Given the description of an element on the screen output the (x, y) to click on. 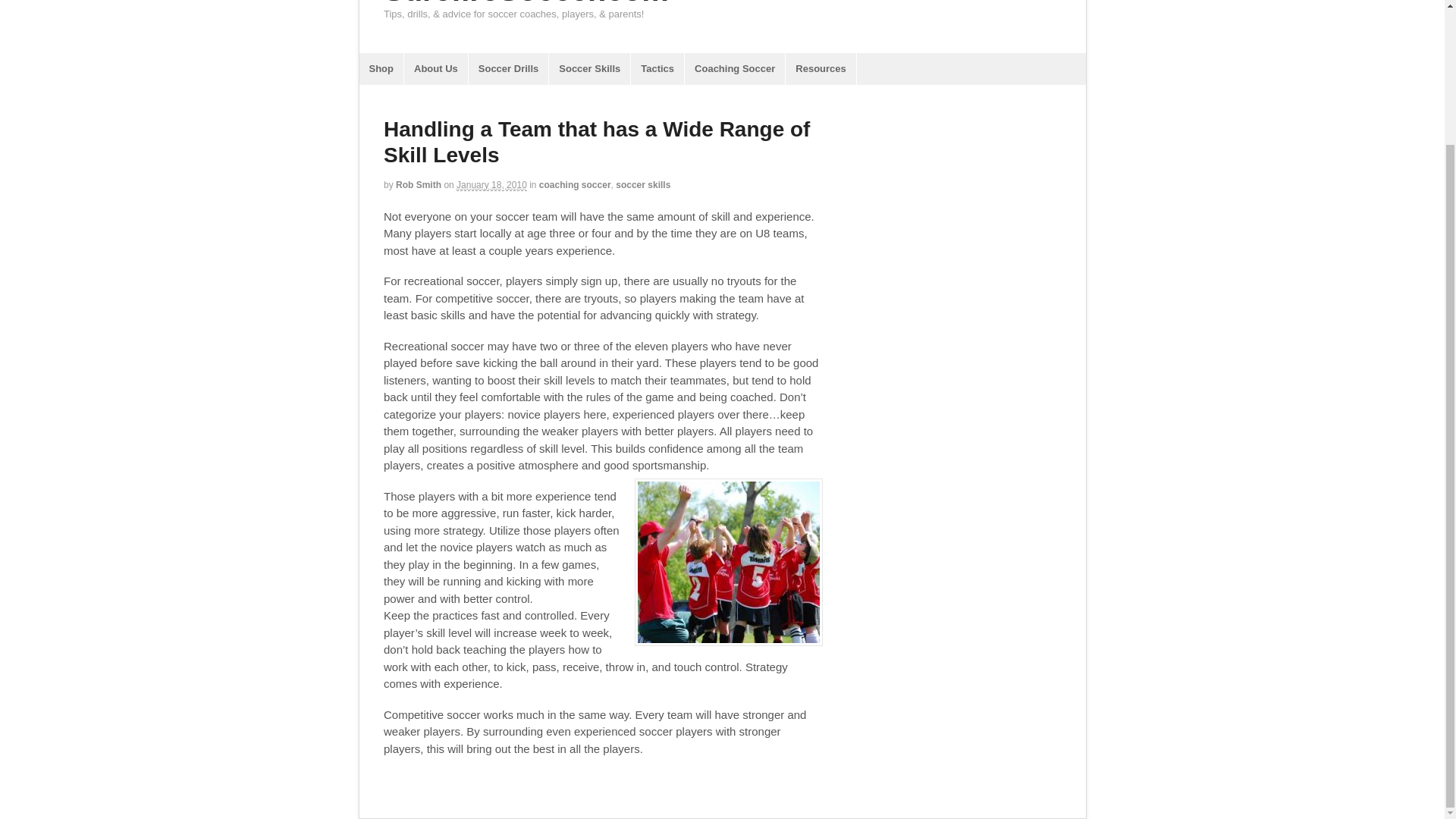
coaching soccer (574, 184)
cheer-109789-m (728, 562)
Tactics (657, 69)
soccer skills (642, 184)
Soccer Skills (589, 69)
Resources (821, 69)
Rob Smith (418, 184)
View all items in coaching soccer (574, 184)
View all items in soccer skills (642, 184)
SurefireSoccer.com (526, 3)
Shop (381, 69)
2010-01-18T11:43:38-0700 (492, 184)
Coaching Soccer (734, 69)
About Us (435, 69)
Soccer Drills (508, 69)
